Given the description of an element on the screen output the (x, y) to click on. 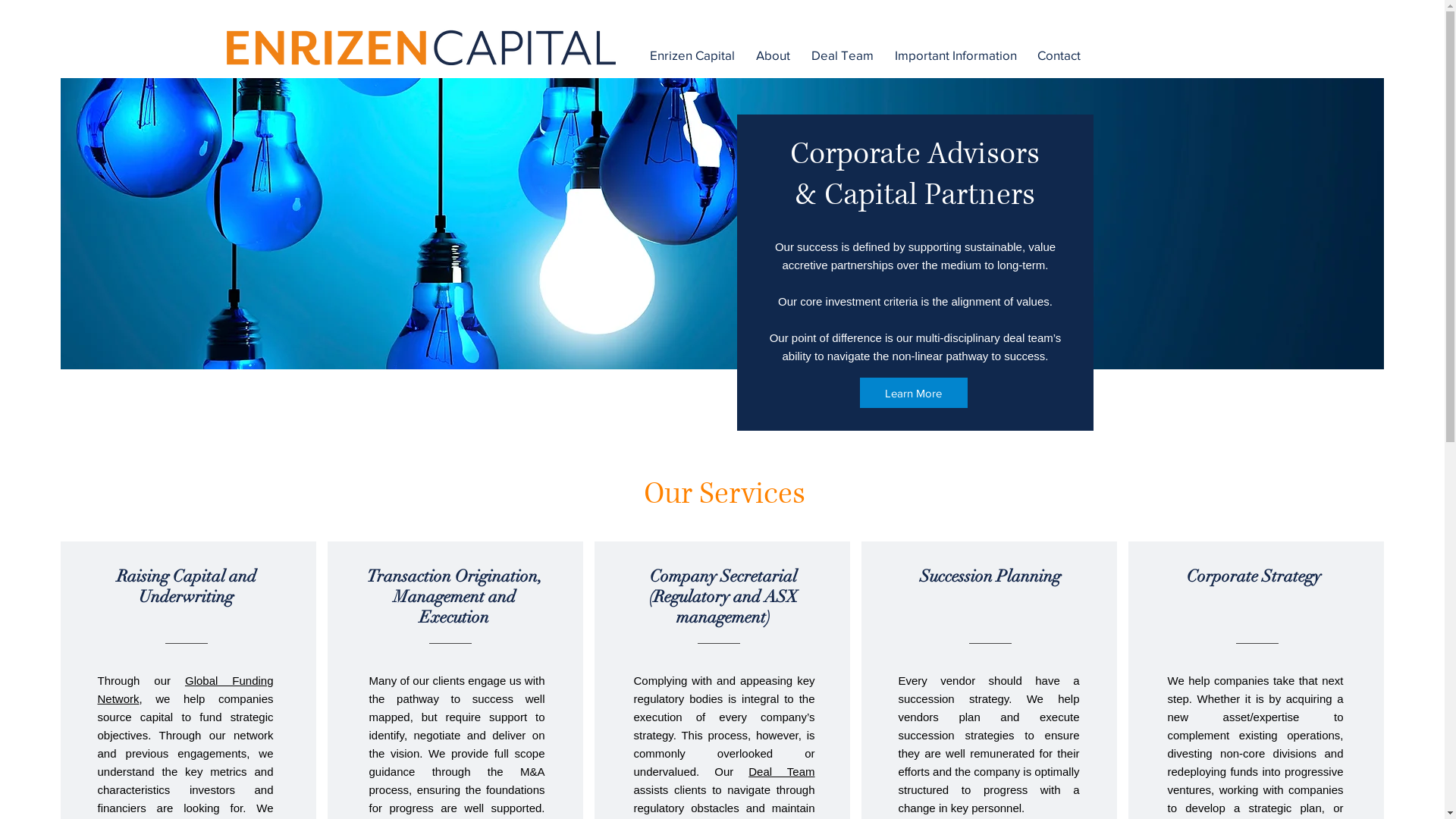
Global Funding Network Element type: text (185, 689)
Important Information Element type: text (958, 55)
Deal Team Element type: text (845, 55)
Enrizen Capital Element type: text (694, 55)
About Element type: text (775, 55)
Learn More Element type: text (913, 392)
Deal Team Element type: text (773, 771)
Contact Element type: text (1061, 55)
